Given the description of an element on the screen output the (x, y) to click on. 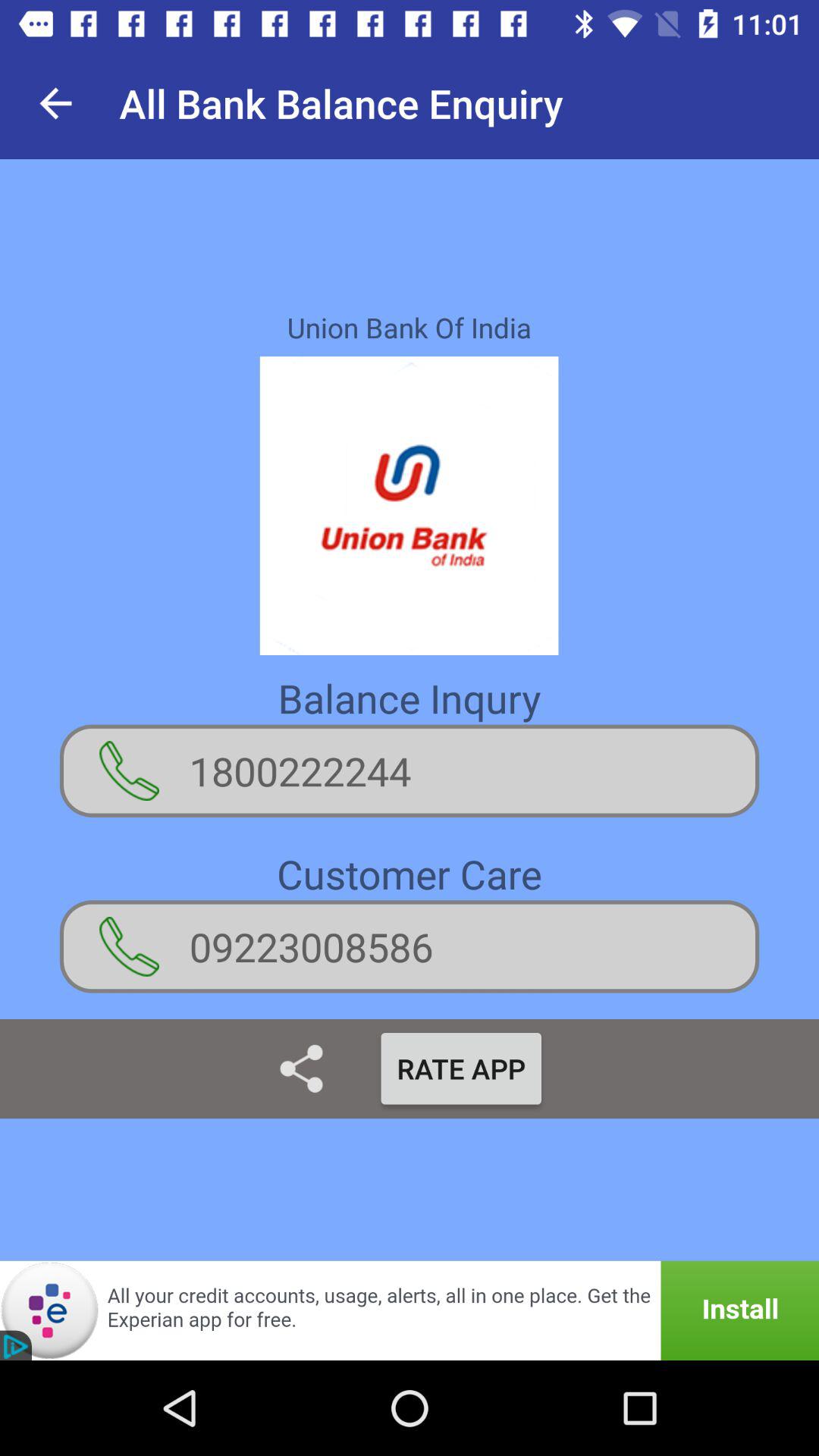
turn off app to the left of the all bank balance app (55, 103)
